Given the description of an element on the screen output the (x, y) to click on. 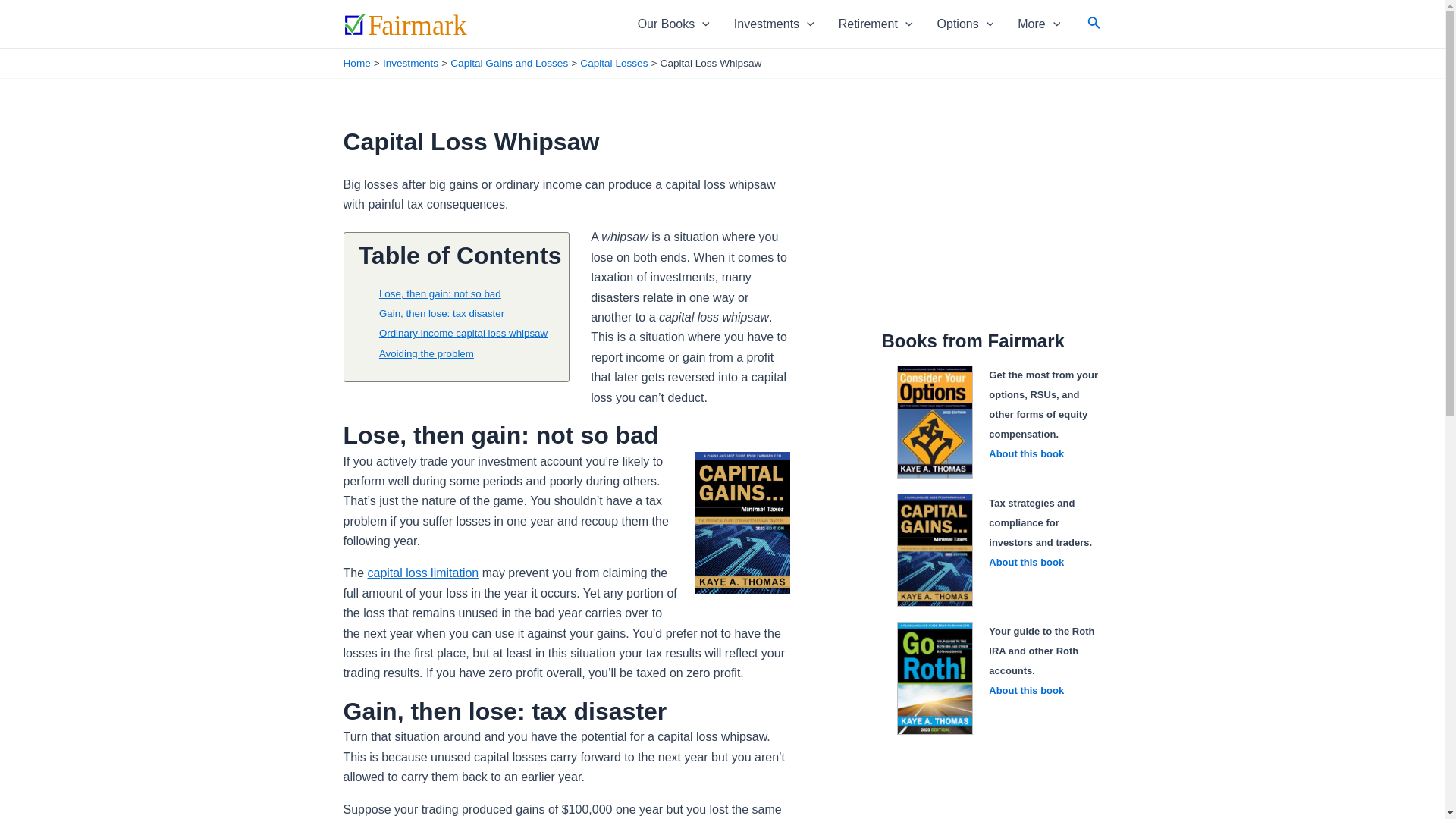
Our Books (674, 24)
Investments (774, 24)
Options (965, 24)
More (1038, 24)
Retirement (875, 24)
